Given the description of an element on the screen output the (x, y) to click on. 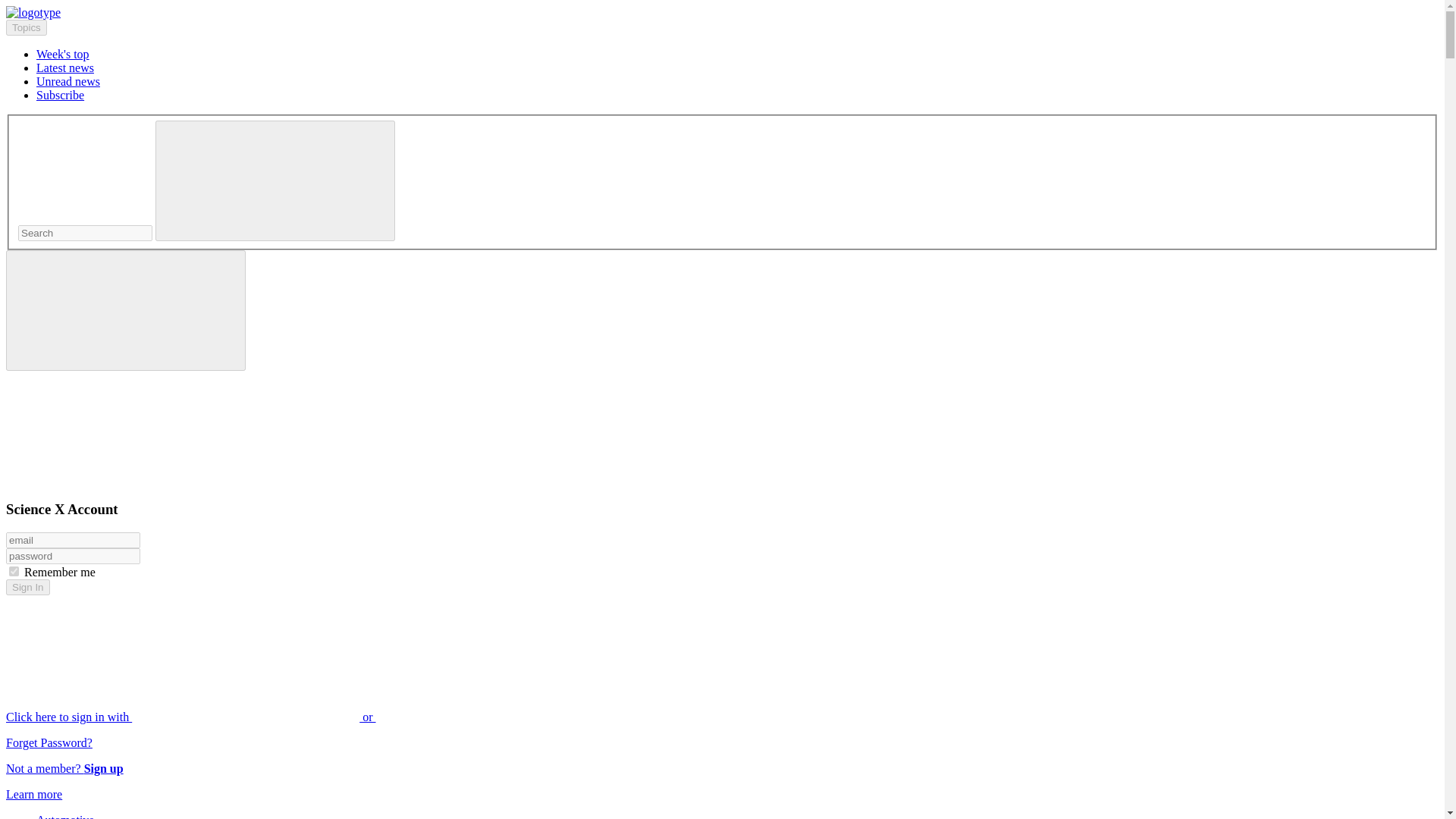
Learn more (33, 793)
Not a member? Sign up (64, 768)
Unread news (68, 81)
Subscribe (60, 94)
Sign In (27, 587)
Click here to sign in with or (304, 716)
on (13, 571)
Latest news (65, 67)
Automotive (65, 816)
Topics (25, 27)
Week's top (62, 53)
Forget Password? (49, 742)
